Given the description of an element on the screen output the (x, y) to click on. 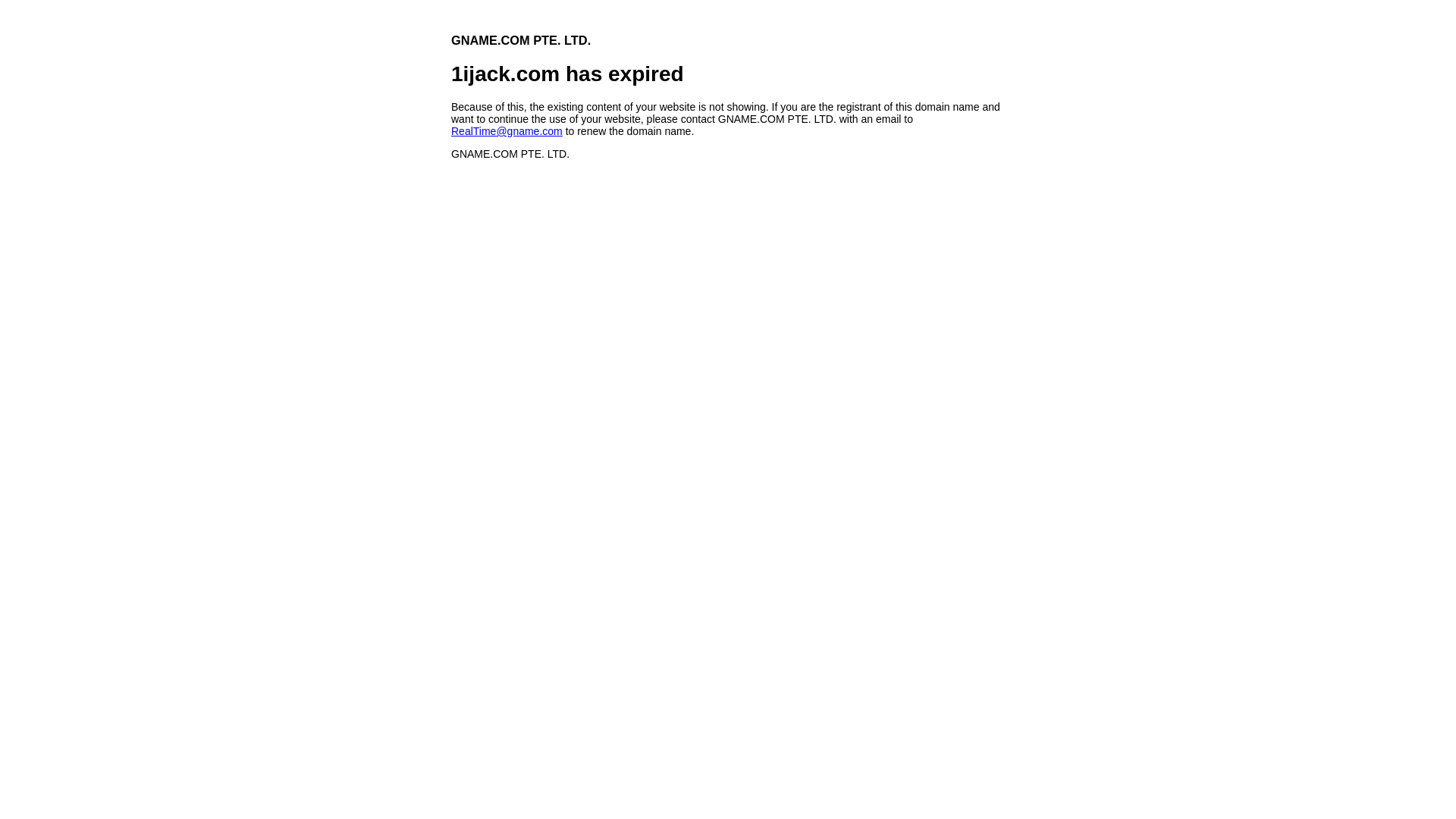
RealTime@gname.com Element type: text (506, 131)
